Given the description of an element on the screen output the (x, y) to click on. 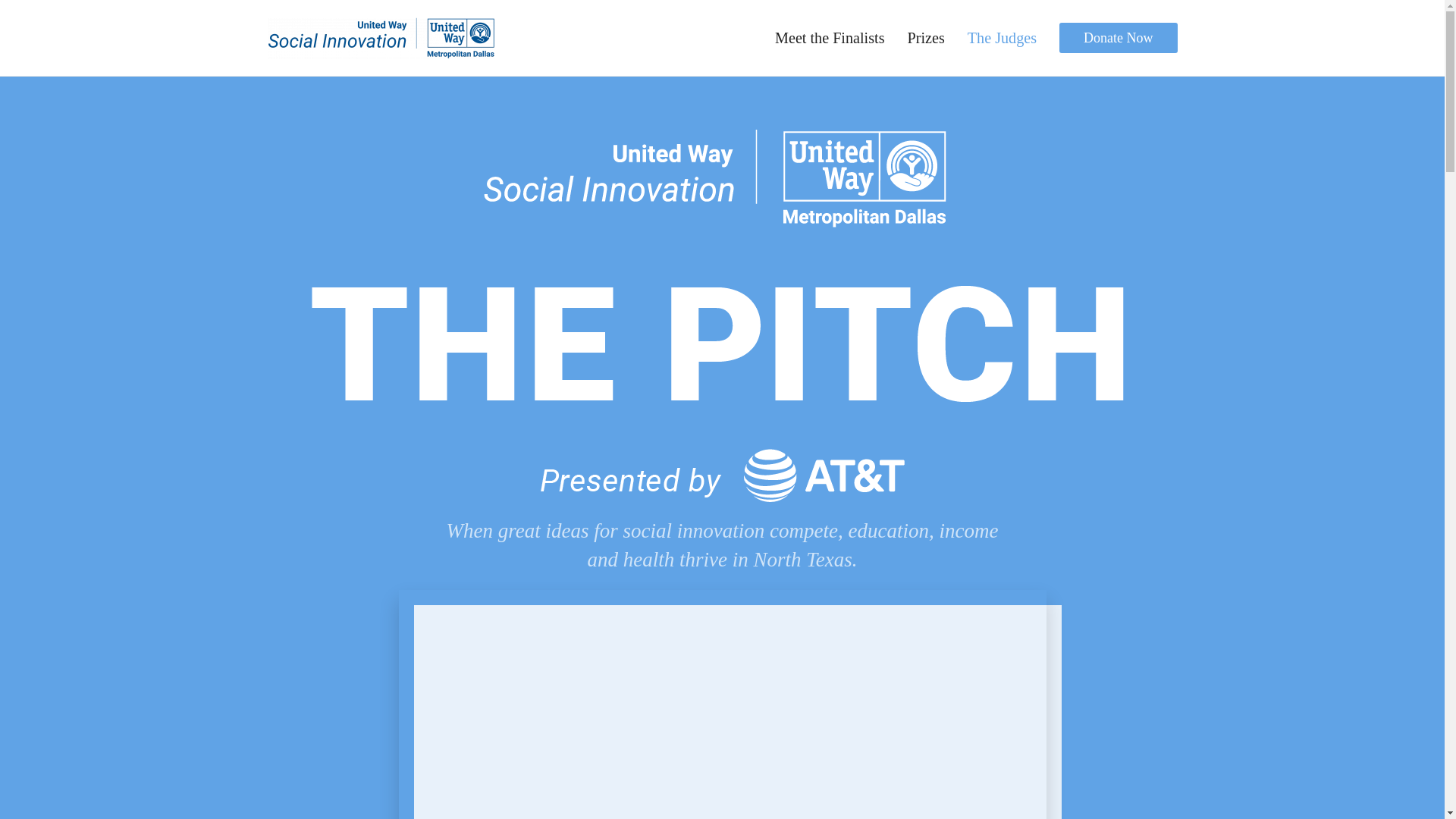
Meet the Finalists (828, 38)
The Judges (1002, 38)
Donate Now (1117, 37)
